Given the description of an element on the screen output the (x, y) to click on. 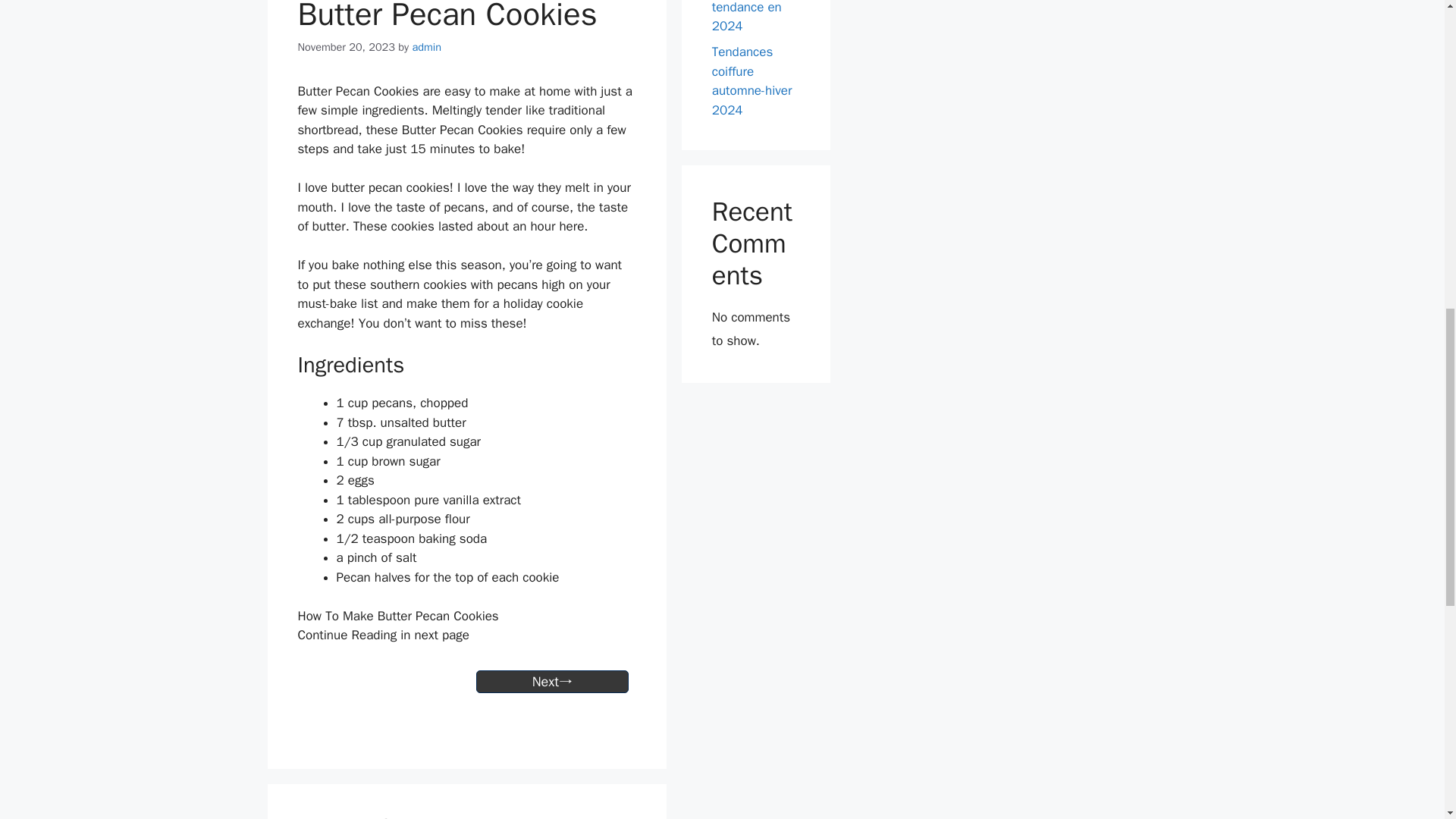
Tendances coiffure automne-hiver 2024 (751, 80)
View all posts by admin (426, 47)
admin (426, 47)
